Given the description of an element on the screen output the (x, y) to click on. 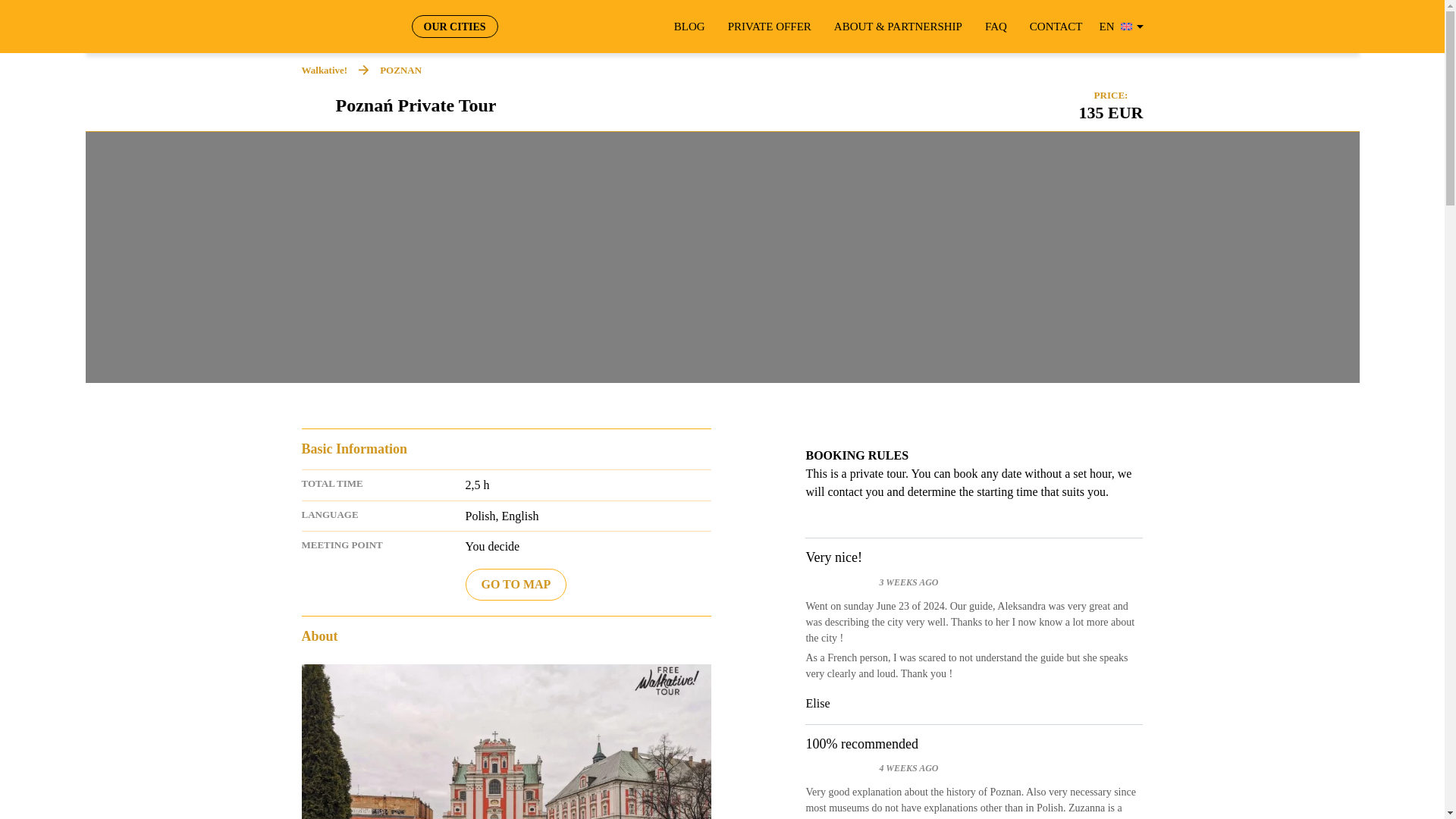
PRIVATE OFFER (769, 26)
FAQ (996, 26)
CONTACT (1056, 26)
OUR CITIES (453, 26)
BLOG (689, 26)
